Given the description of an element on the screen output the (x, y) to click on. 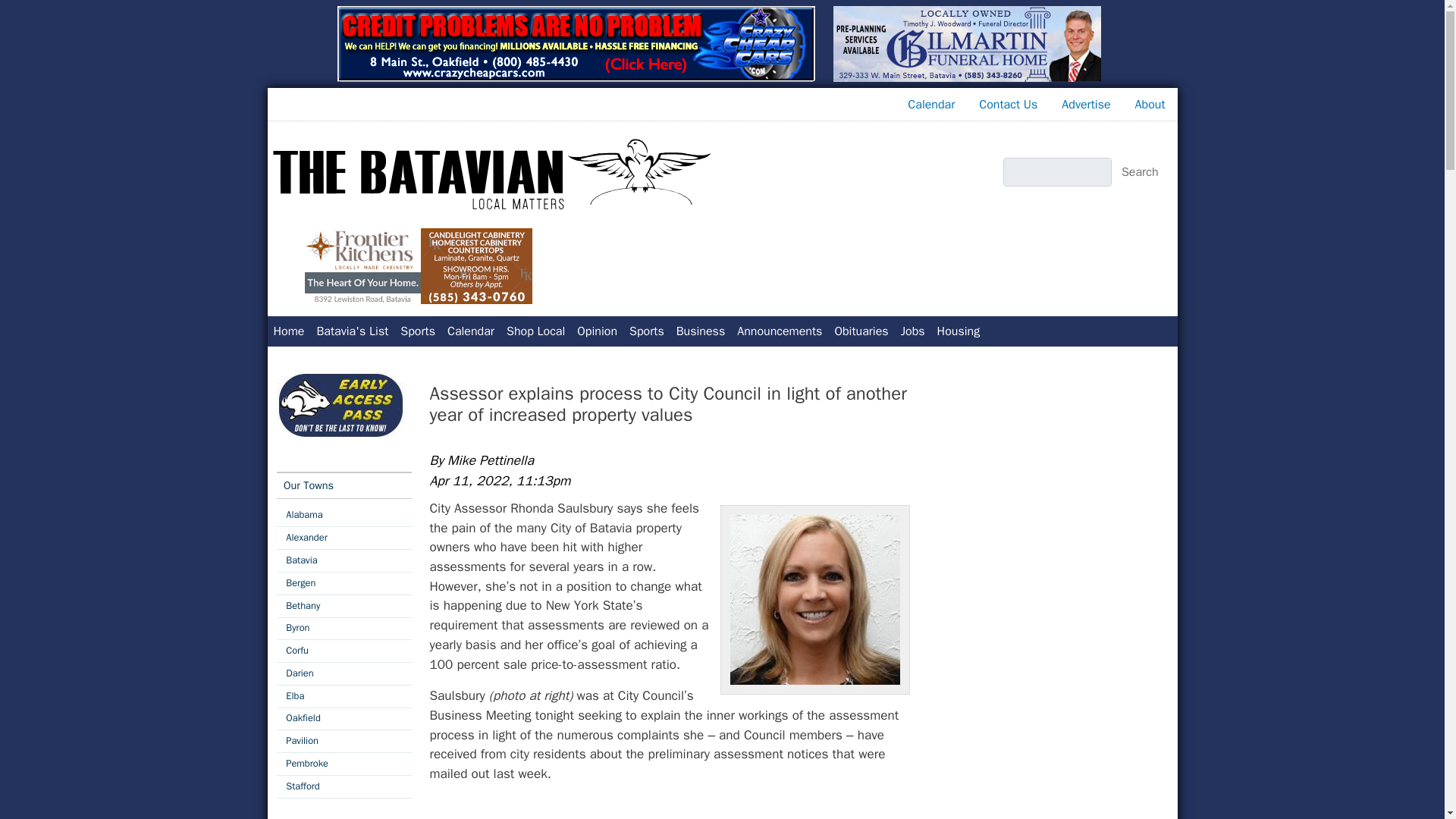
Advertise (1085, 104)
Shop Local (535, 331)
Opinion (596, 331)
Sports (646, 331)
Page about advertising on the site. (1085, 104)
Crazy Cheap Cars - Top (574, 43)
Sports (646, 331)
Announcements (779, 331)
Home (288, 331)
Jobs (913, 331)
